Given the description of an element on the screen output the (x, y) to click on. 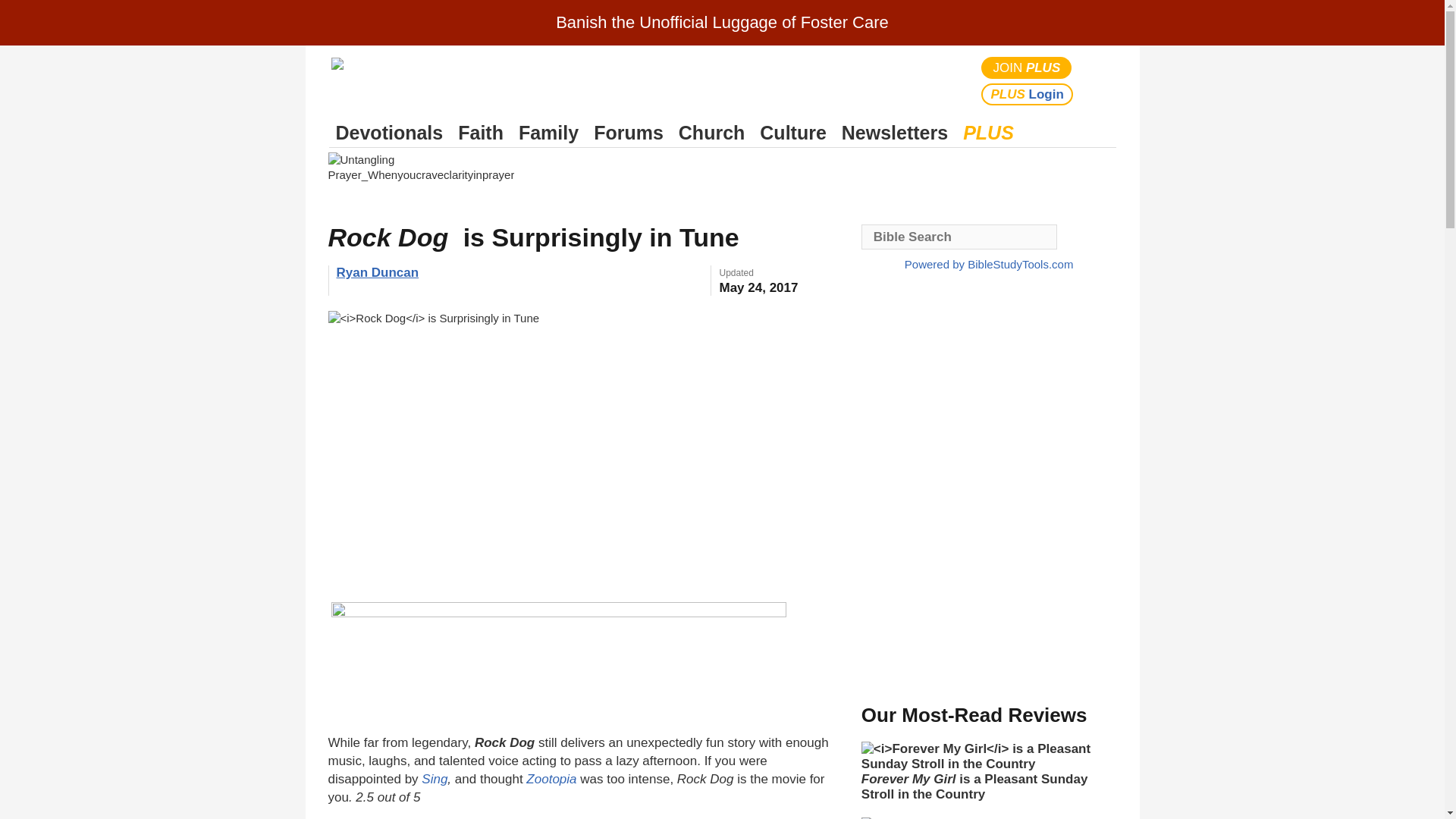
Devotionals (389, 132)
JOIN PLUS (1026, 67)
Join Plus (1026, 67)
Faith (481, 132)
Search (1101, 80)
Plus Login (1026, 94)
PLUS Login (1026, 94)
